Given the description of an element on the screen output the (x, y) to click on. 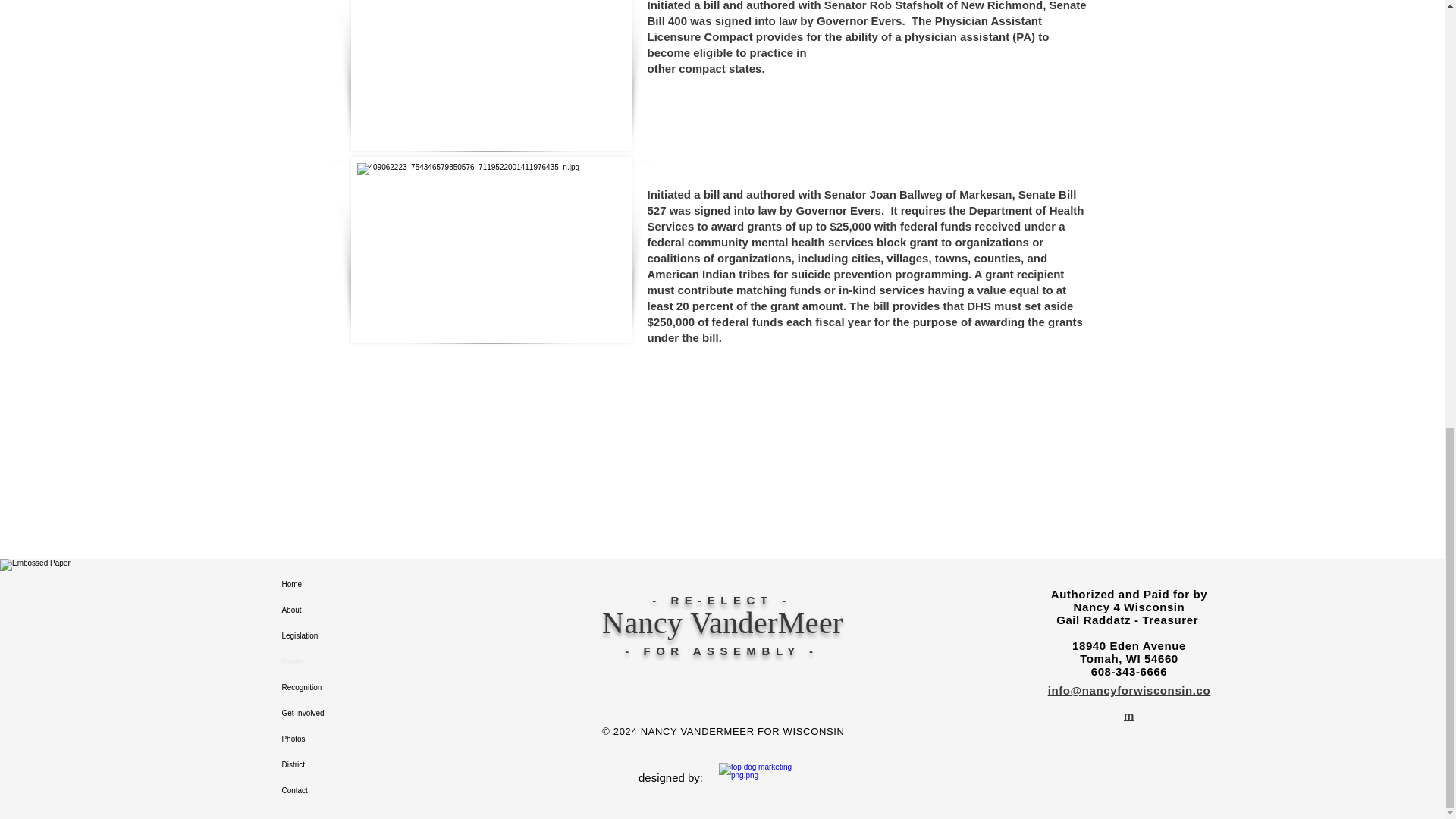
Photos (334, 739)
Contact (334, 790)
Home (334, 584)
Issues (334, 661)
District (334, 765)
About (334, 610)
